Given the description of an element on the screen output the (x, y) to click on. 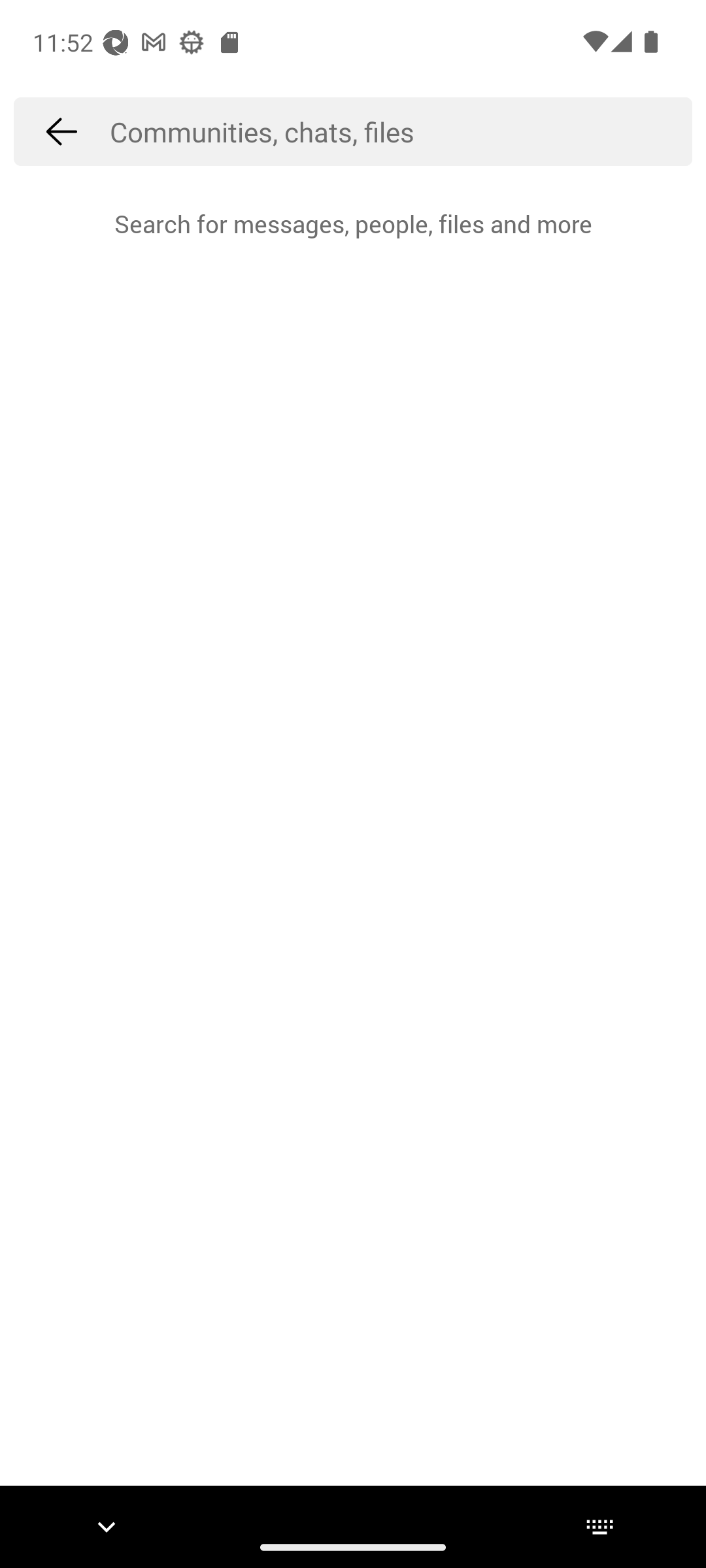
Back (61, 131)
Search for communities, chats, files and more (401, 131)
